Given the description of an element on the screen output the (x, y) to click on. 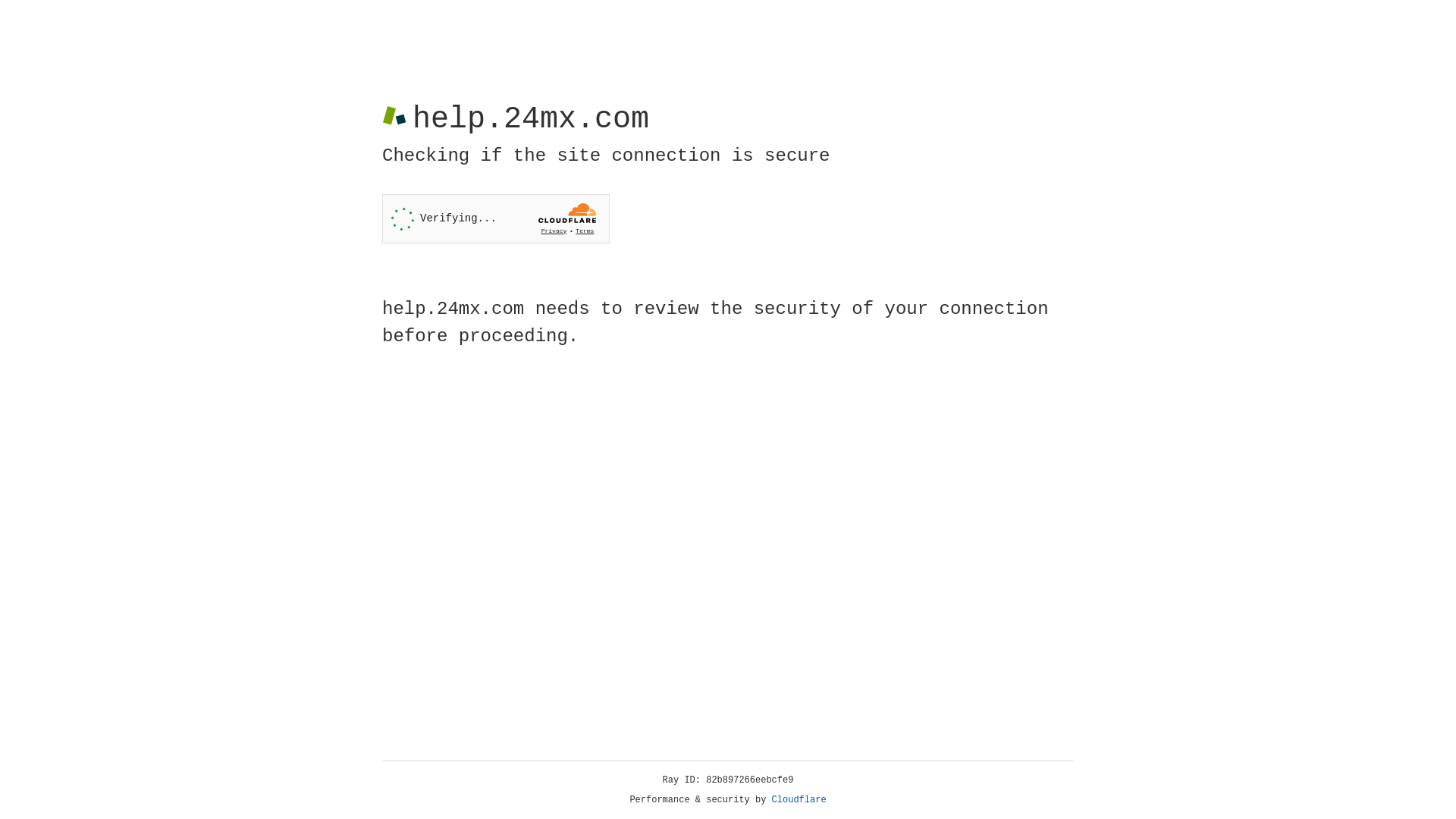
Widget containing a Cloudflare security challenge Element type: hover (495, 218)
Cloudflare Element type: text (798, 799)
